Given the description of an element on the screen output the (x, y) to click on. 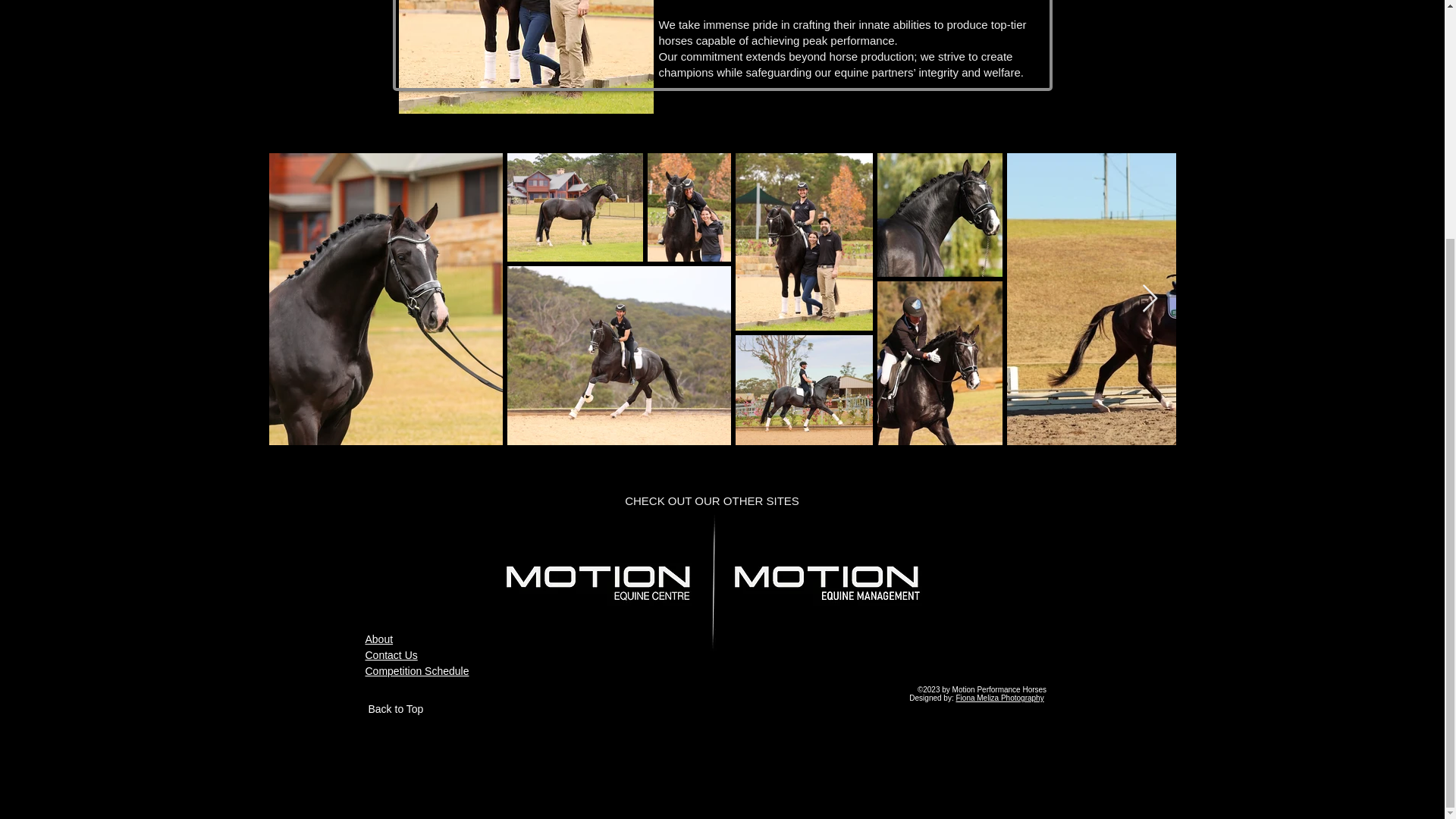
Back to Top (395, 708)
Competition Schedule (416, 671)
Fiona Meliza Photography (999, 697)
About (379, 639)
Contact Us (391, 654)
